Given the description of an element on the screen output the (x, y) to click on. 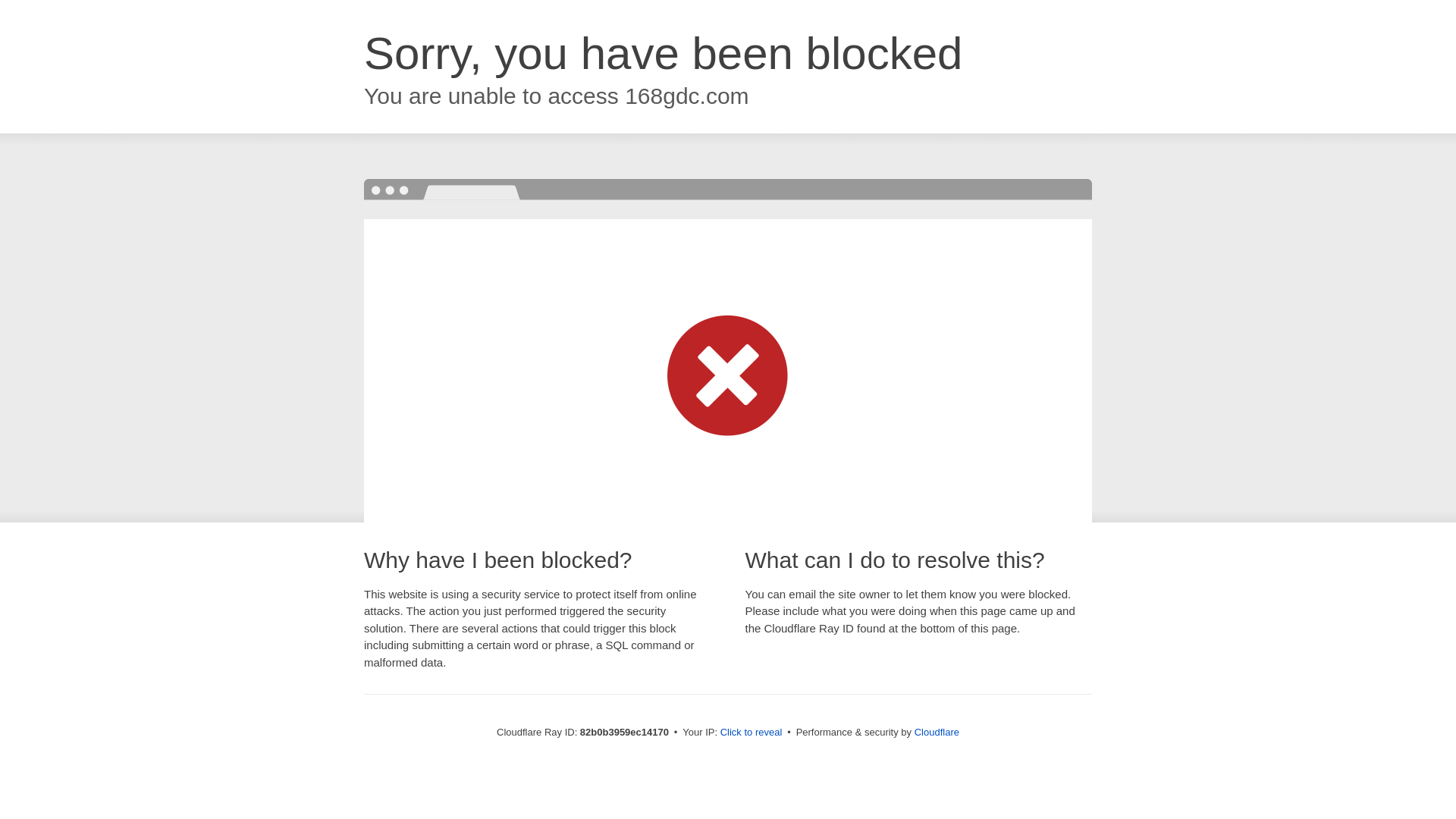
Cloudflare Element type: text (936, 731)
Click to reveal Element type: text (751, 732)
